Given the description of an element on the screen output the (x, y) to click on. 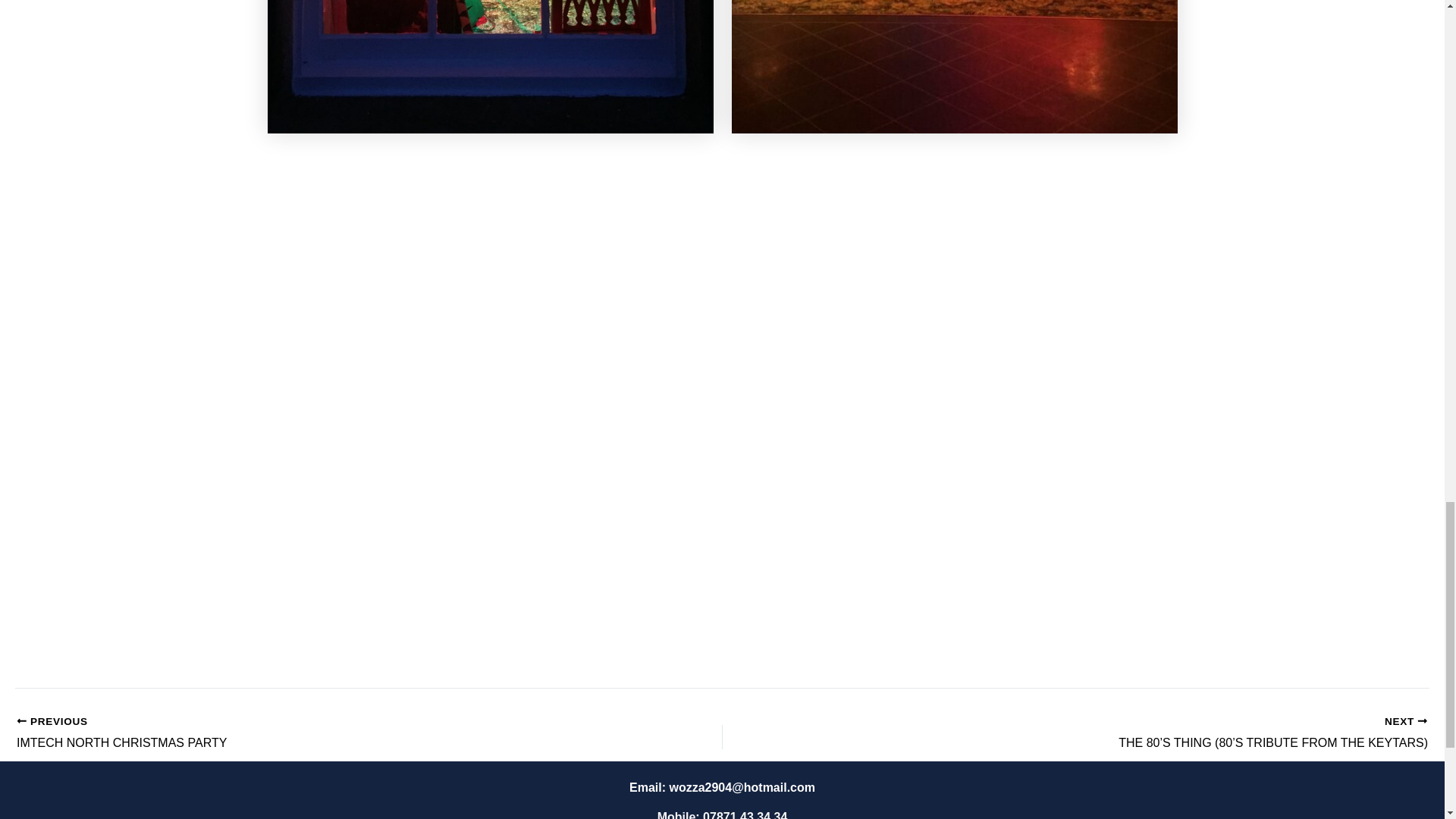
IMTECH NORTH CHRISTMAS PARTY (299, 733)
